Given the description of an element on the screen output the (x, y) to click on. 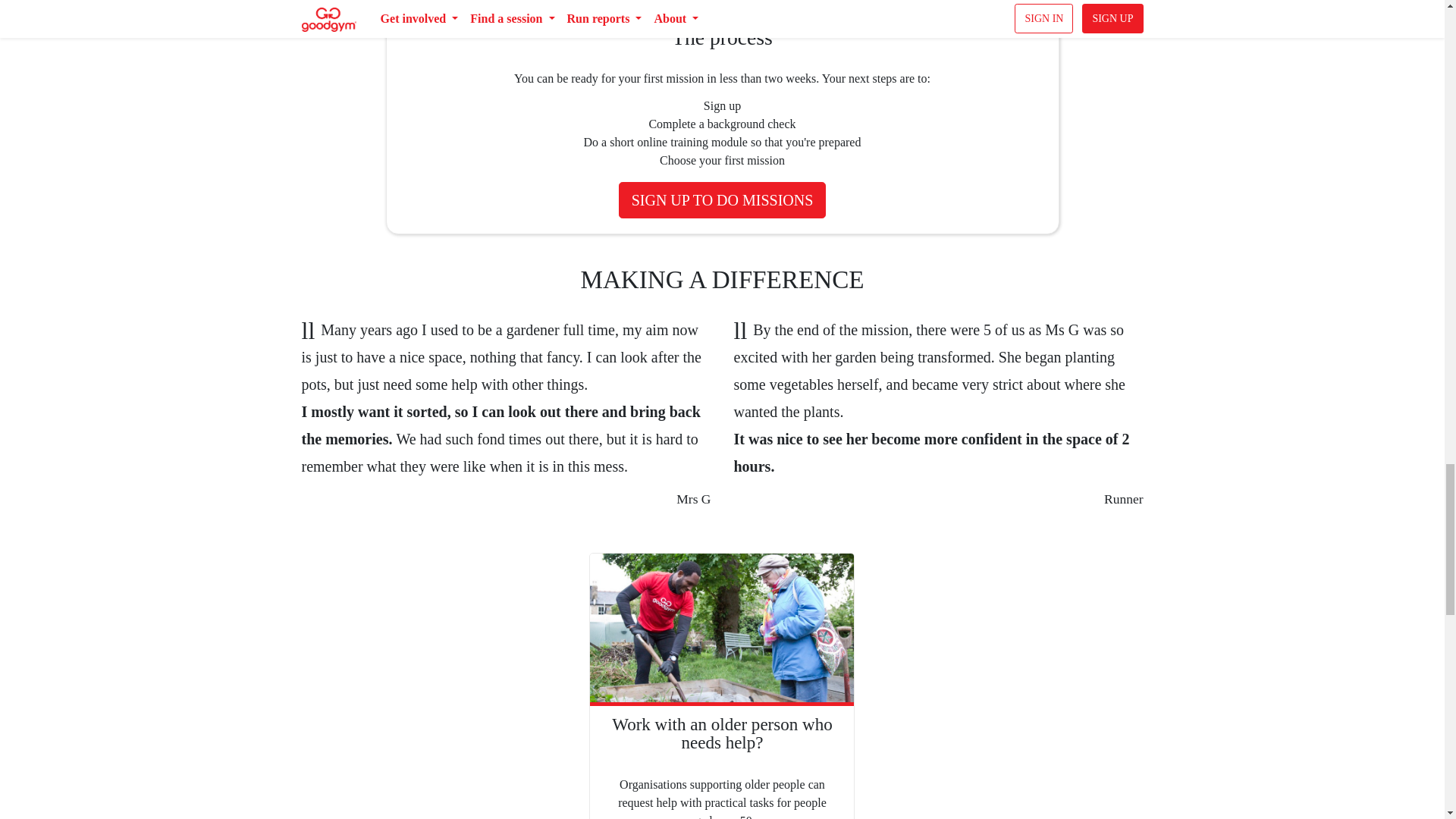
SIGN UP TO DO MISSIONS (722, 199)
